Given the description of an element on the screen output the (x, y) to click on. 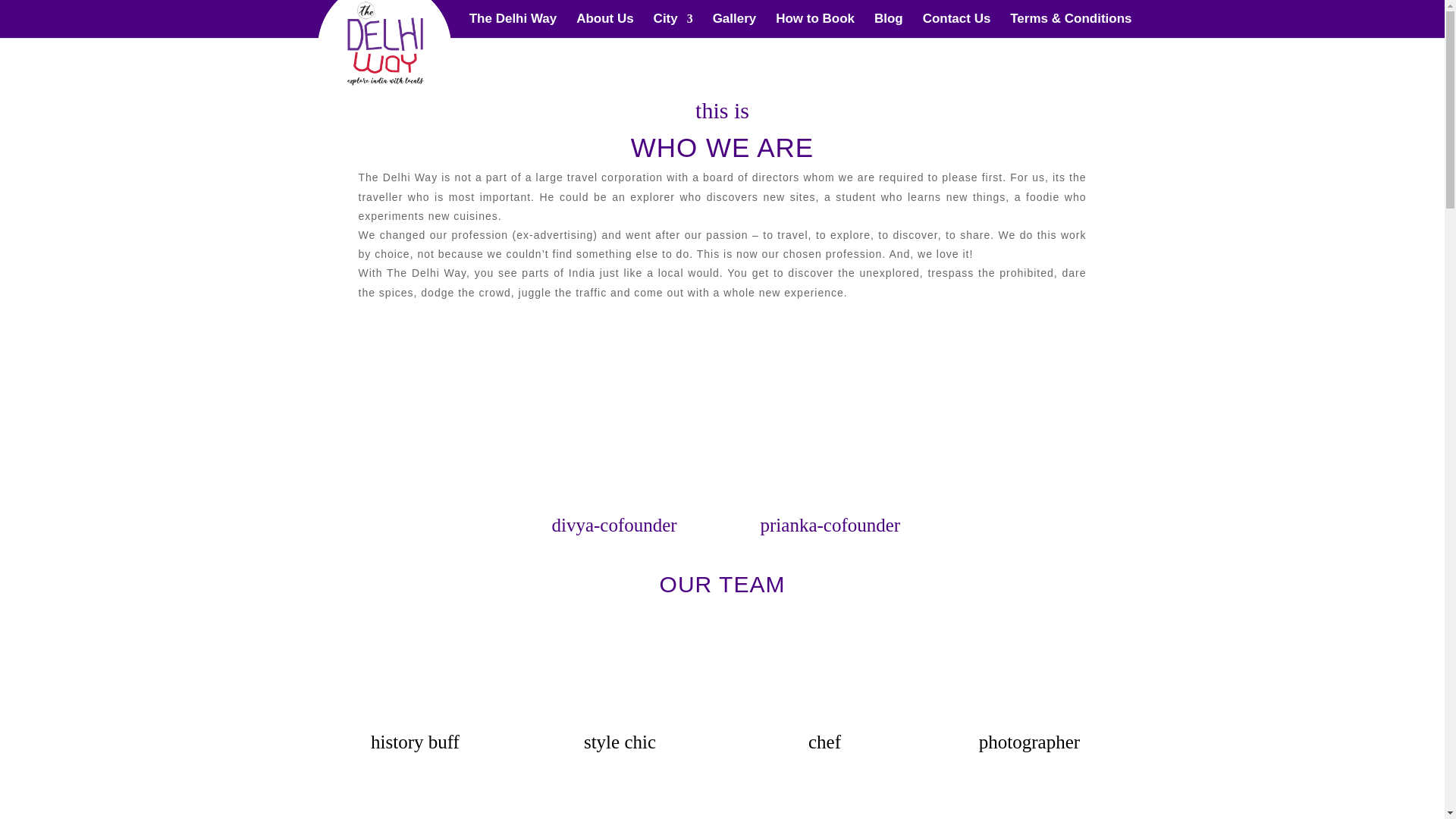
Blog (888, 25)
About Us (604, 25)
Contact Us (957, 25)
The Delhi Way (512, 25)
How to Book (815, 25)
Gallery (735, 25)
City (673, 25)
